Given the description of an element on the screen output the (x, y) to click on. 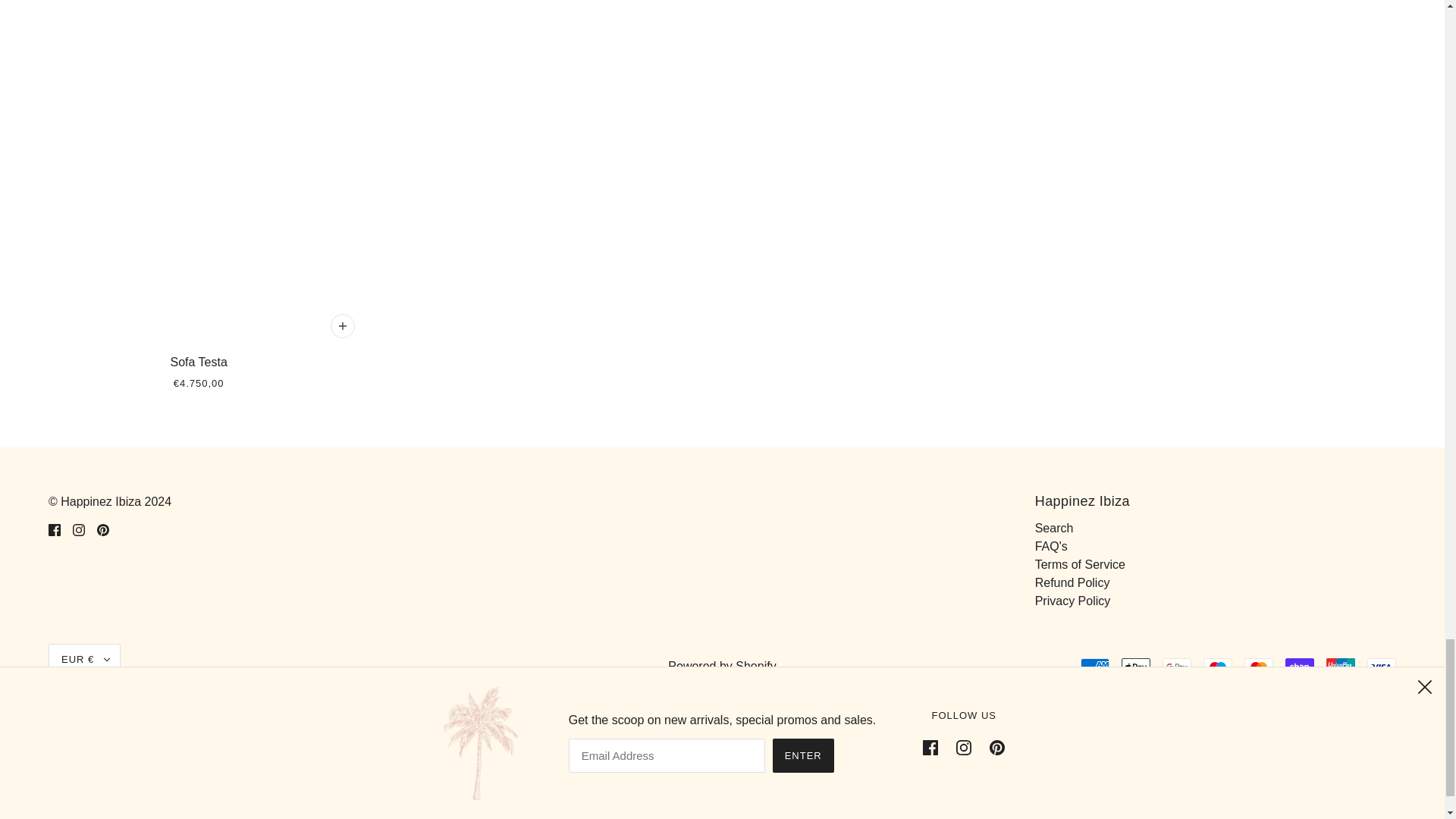
Refund Policy (1072, 582)
Shop Pay (1299, 667)
American Express (1094, 667)
Privacy Policy (1072, 600)
Google Pay (1176, 667)
Search (1054, 527)
Apple Pay (1135, 667)
FAQ's (1051, 545)
Terms of Service (1080, 563)
Mastercard (1258, 667)
Maestro (1217, 667)
